Given the description of an element on the screen output the (x, y) to click on. 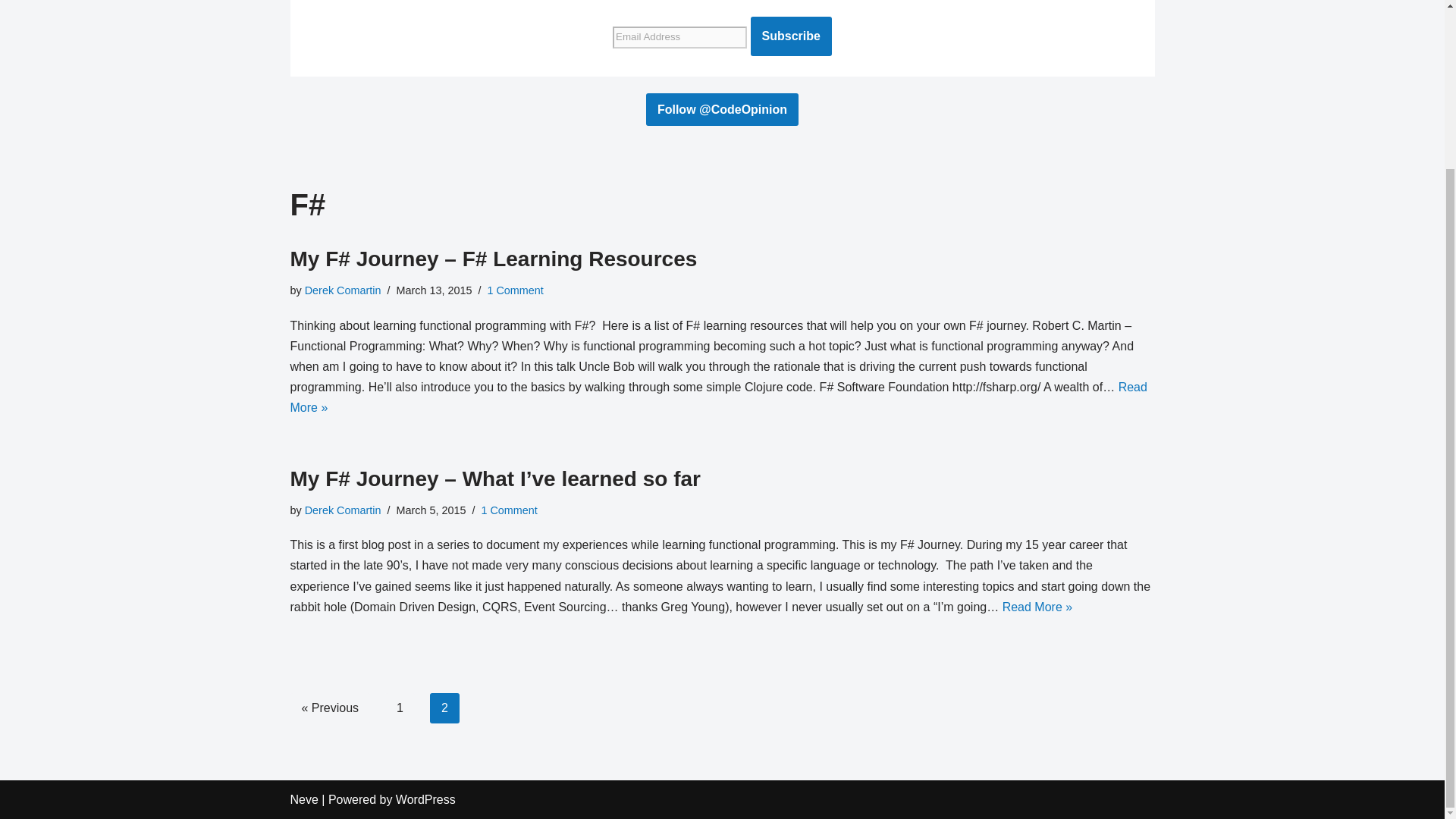
Derek Comartin (342, 510)
Subscribe (791, 36)
1 Comment (508, 510)
Subscribe (791, 36)
Neve (303, 799)
WordPress (425, 799)
1 (399, 707)
1 Comment (514, 290)
Posts by Derek Comartin (342, 290)
Derek Comartin (342, 290)
Posts by Derek Comartin (342, 510)
